Given the description of an element on the screen output the (x, y) to click on. 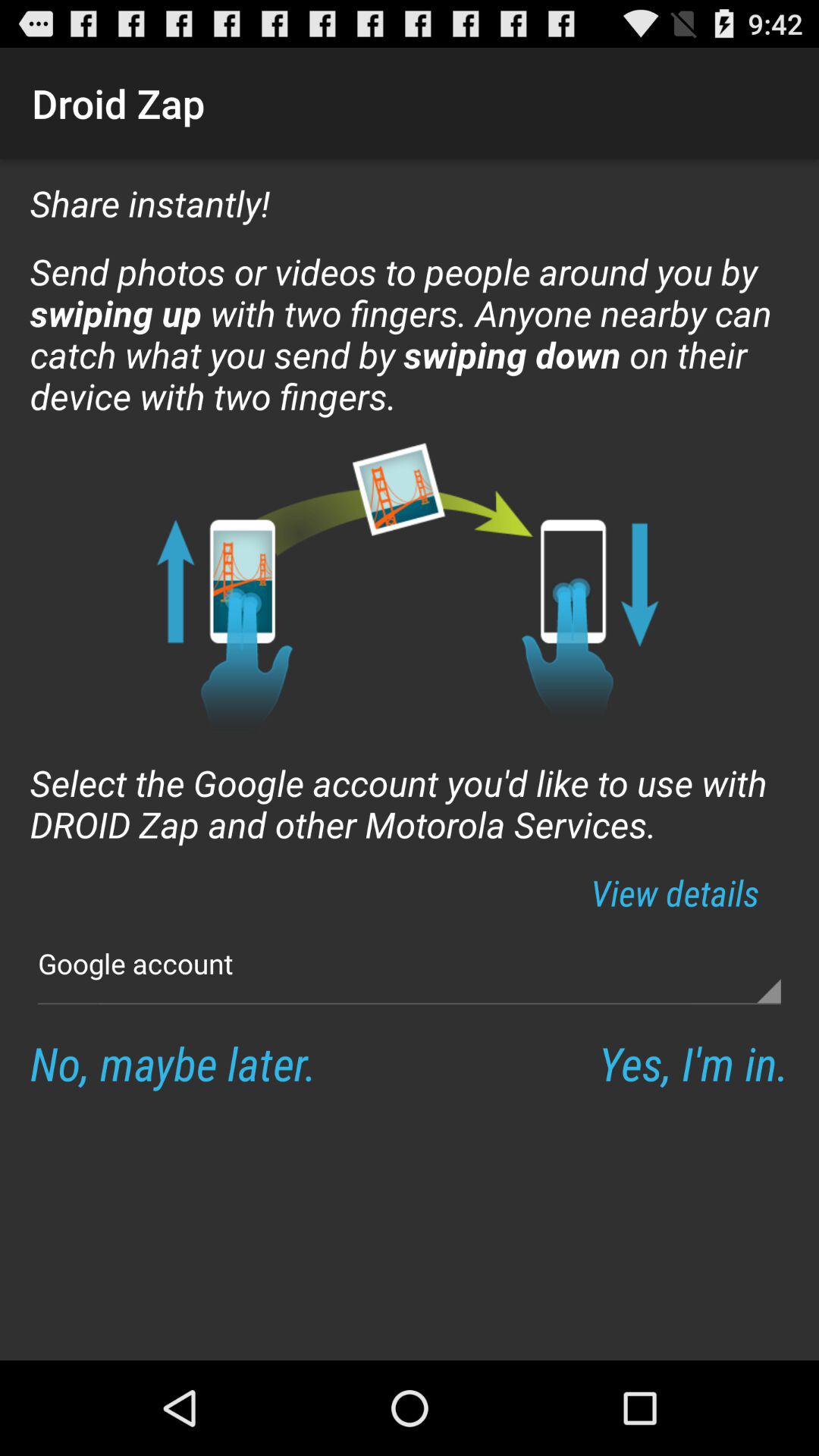
press the icon below google account button (173, 1062)
